Given the description of an element on the screen output the (x, y) to click on. 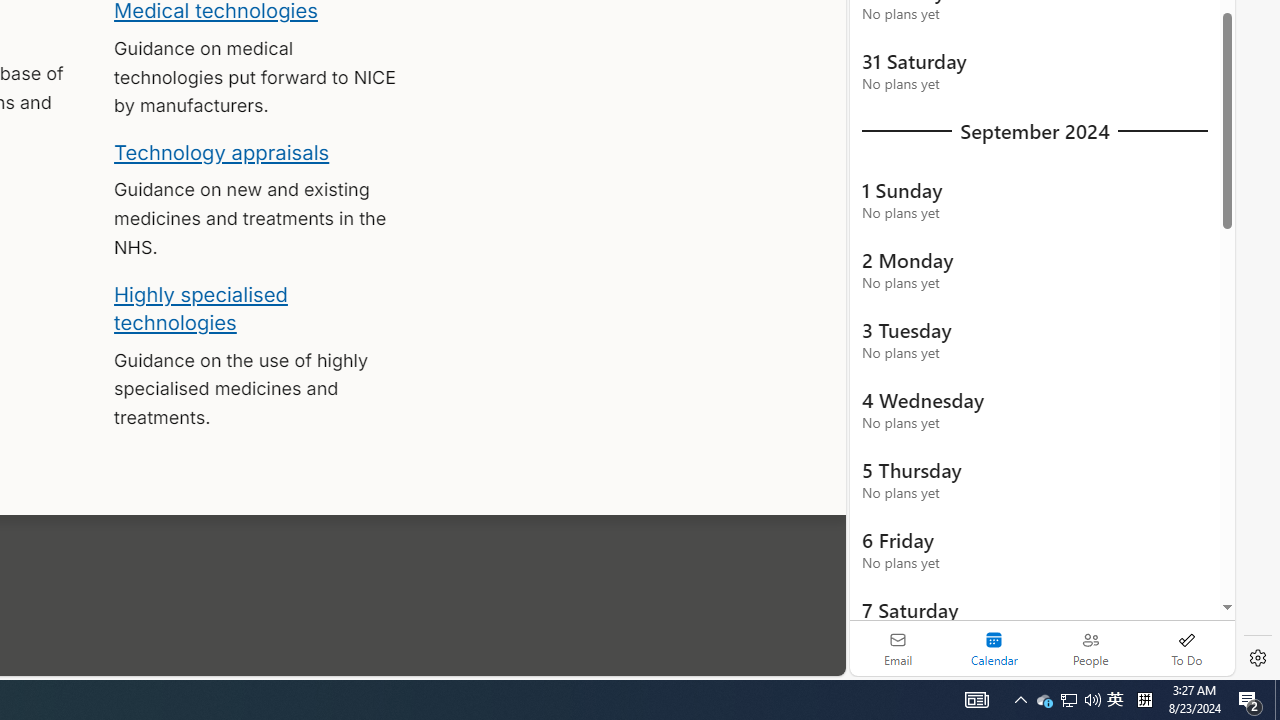
To Do (1186, 648)
People (1090, 648)
Selected calendar module. Date today is 22 (994, 648)
Technology appraisals (221, 152)
Email (898, 648)
Highly specialised technologies (200, 308)
